Given the description of an element on the screen output the (x, y) to click on. 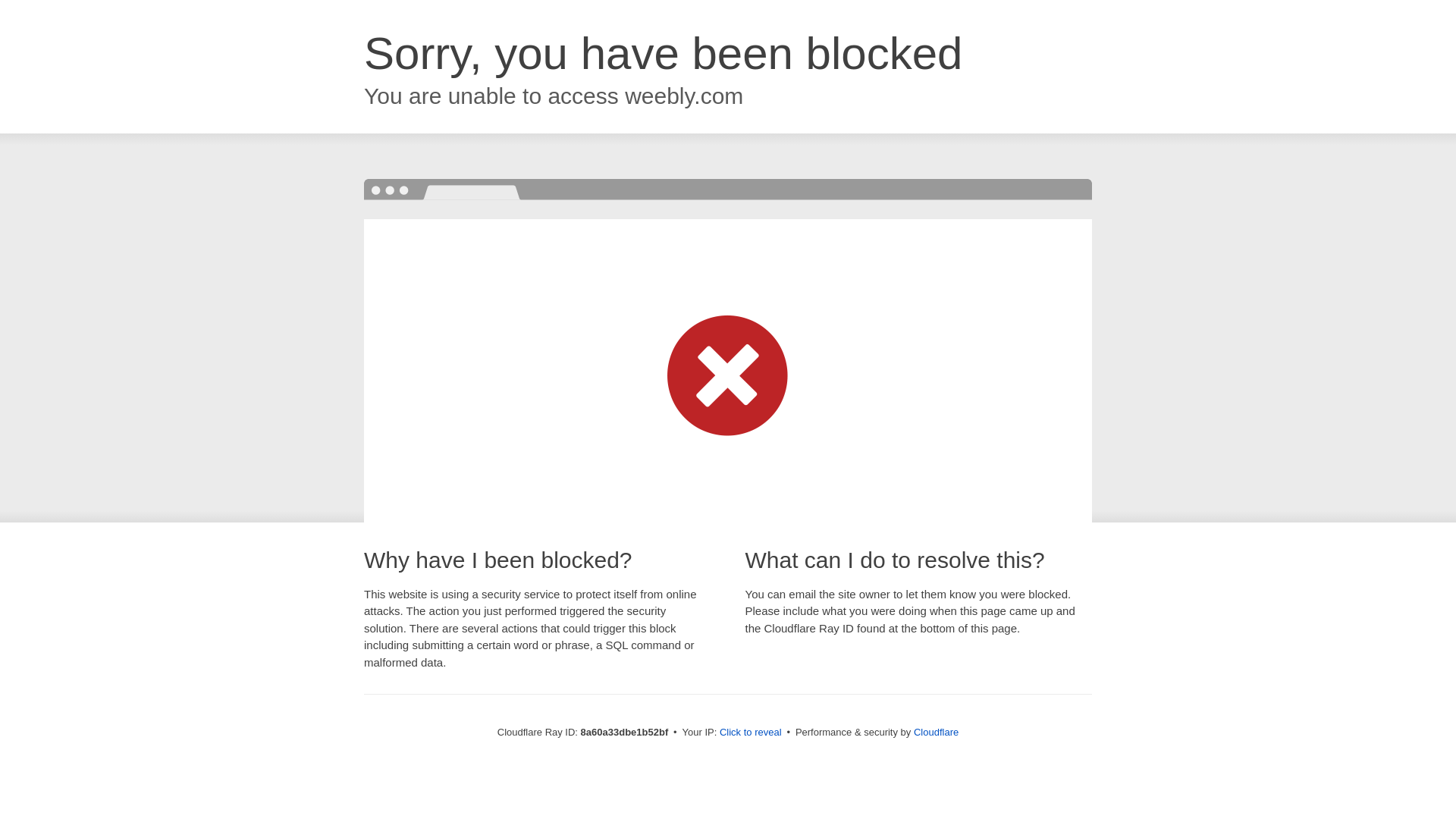
Cloudflare (936, 731)
Click to reveal (750, 732)
